Given the description of an element on the screen output the (x, y) to click on. 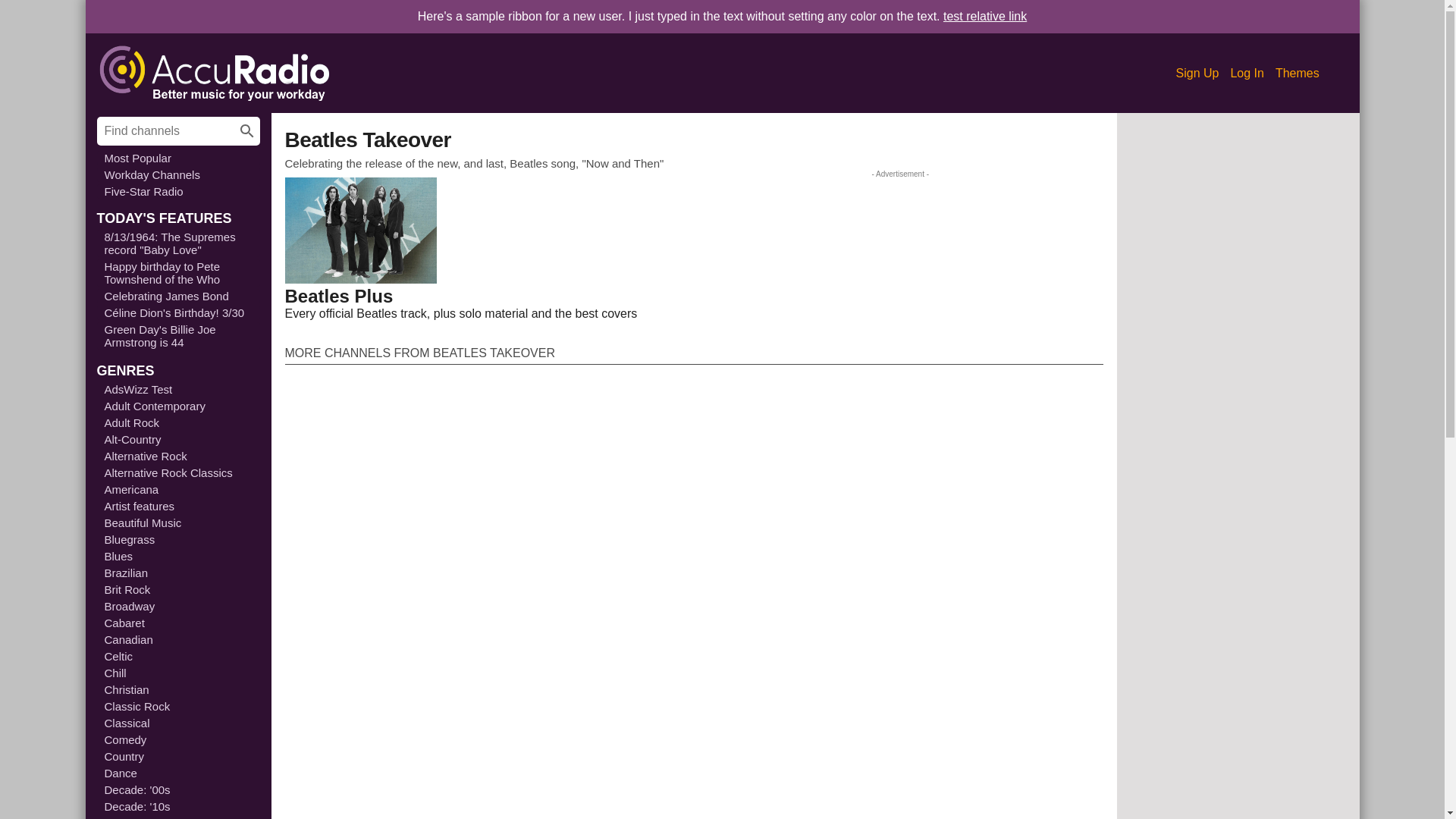
Alt-Country (178, 439)
Workday Channels (178, 174)
Bands Like Green Day (984, 15)
Beautiful Music (178, 522)
Happy birthday to Pete Townshend of the Who (178, 272)
Adult Rock (178, 422)
Beautiful Music - 6 channels (178, 522)
Most Popular (178, 157)
Alternative Rock Classics - 17 channels (178, 472)
Brazilian (178, 572)
